Given the description of an element on the screen output the (x, y) to click on. 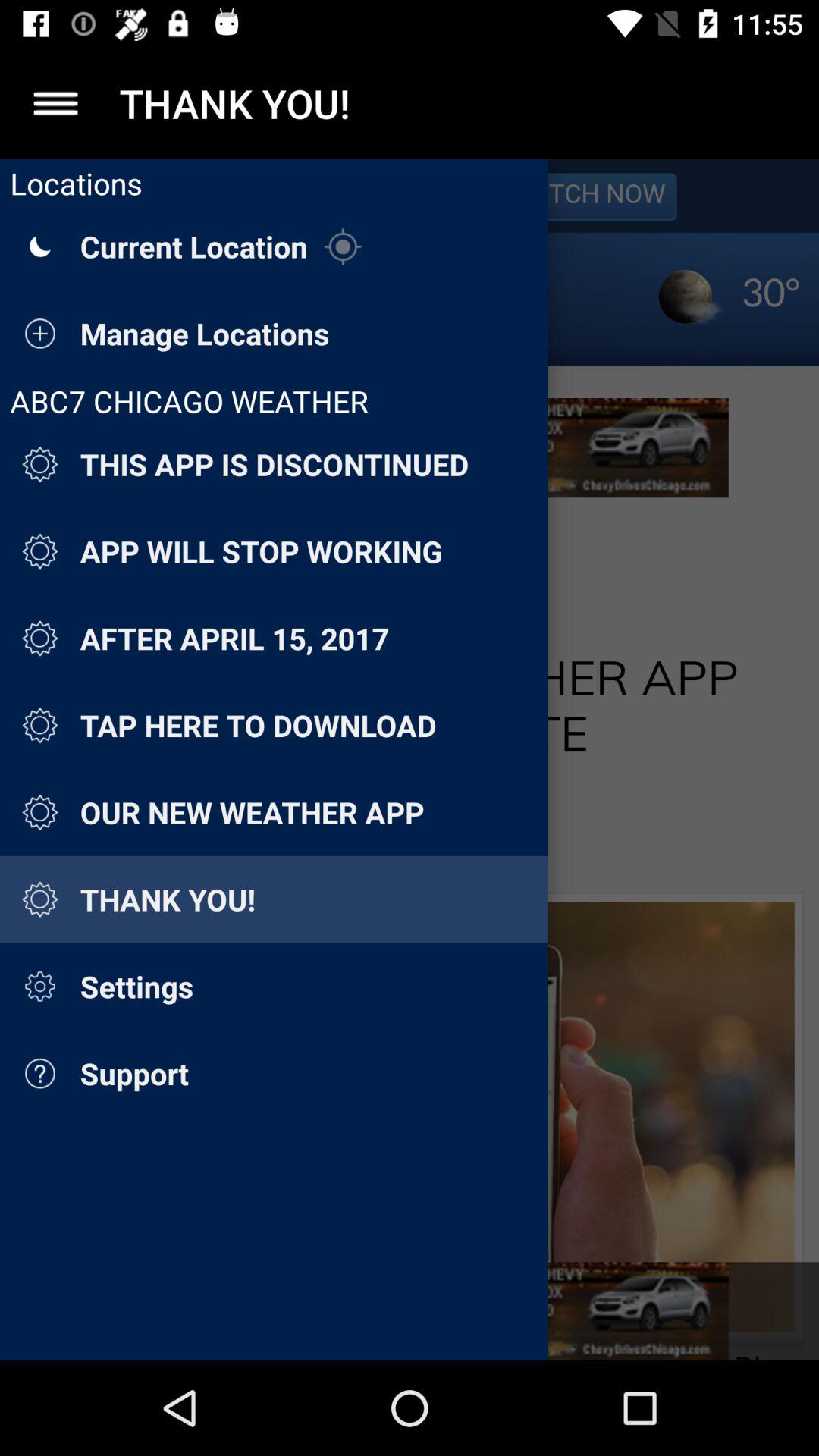
go to home button (55, 103)
